Given the description of an element on the screen output the (x, y) to click on. 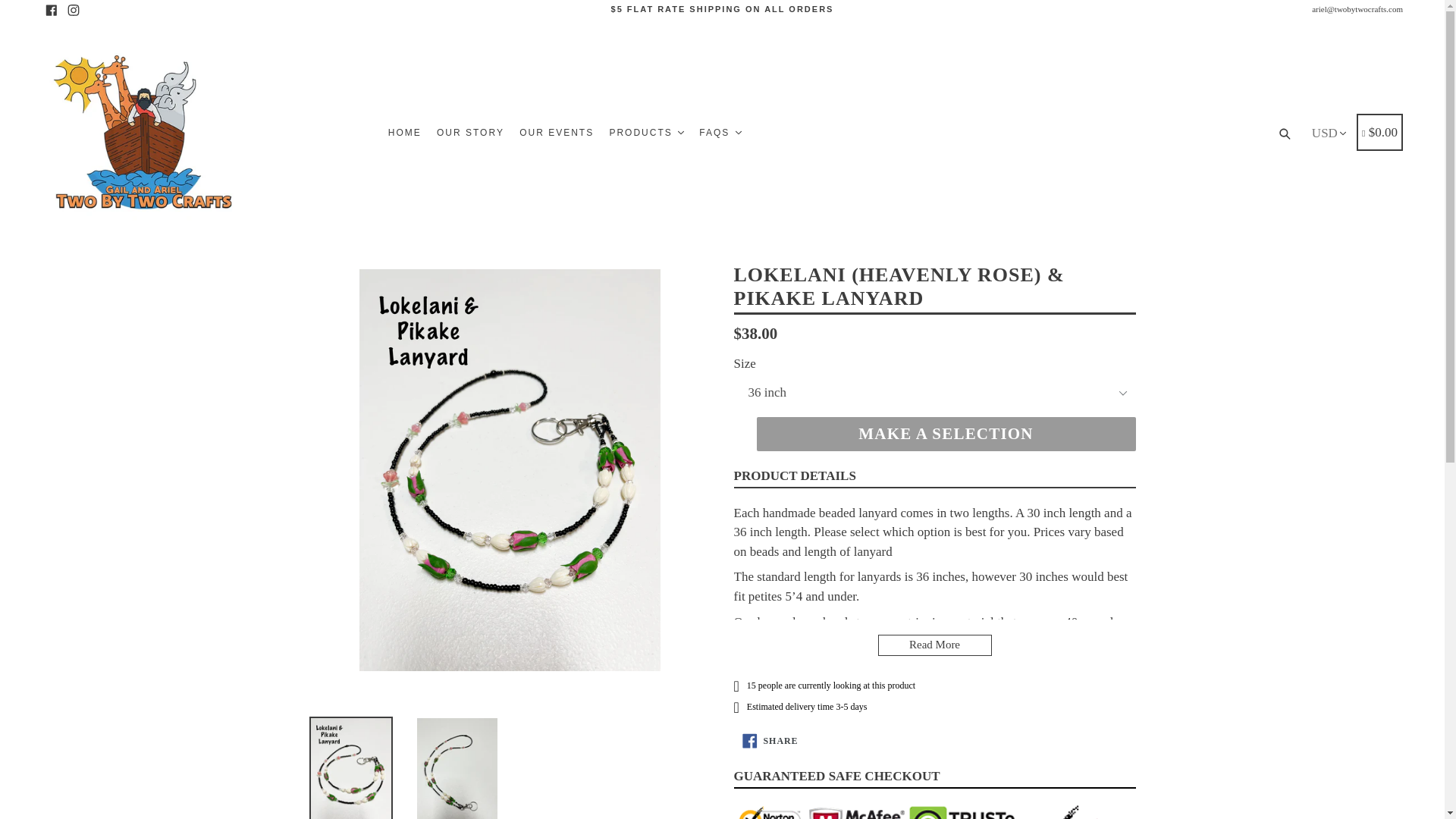
Facebook (51, 9)
Share on Facebook (769, 740)
Instagram (73, 9)
Two By Two Crafts, LLC on Instagram (73, 9)
HOME (404, 132)
Two By Two Crafts, LLC on Facebook (51, 9)
OUR STORY (470, 132)
OUR EVENTS (556, 132)
